Given the description of an element on the screen output the (x, y) to click on. 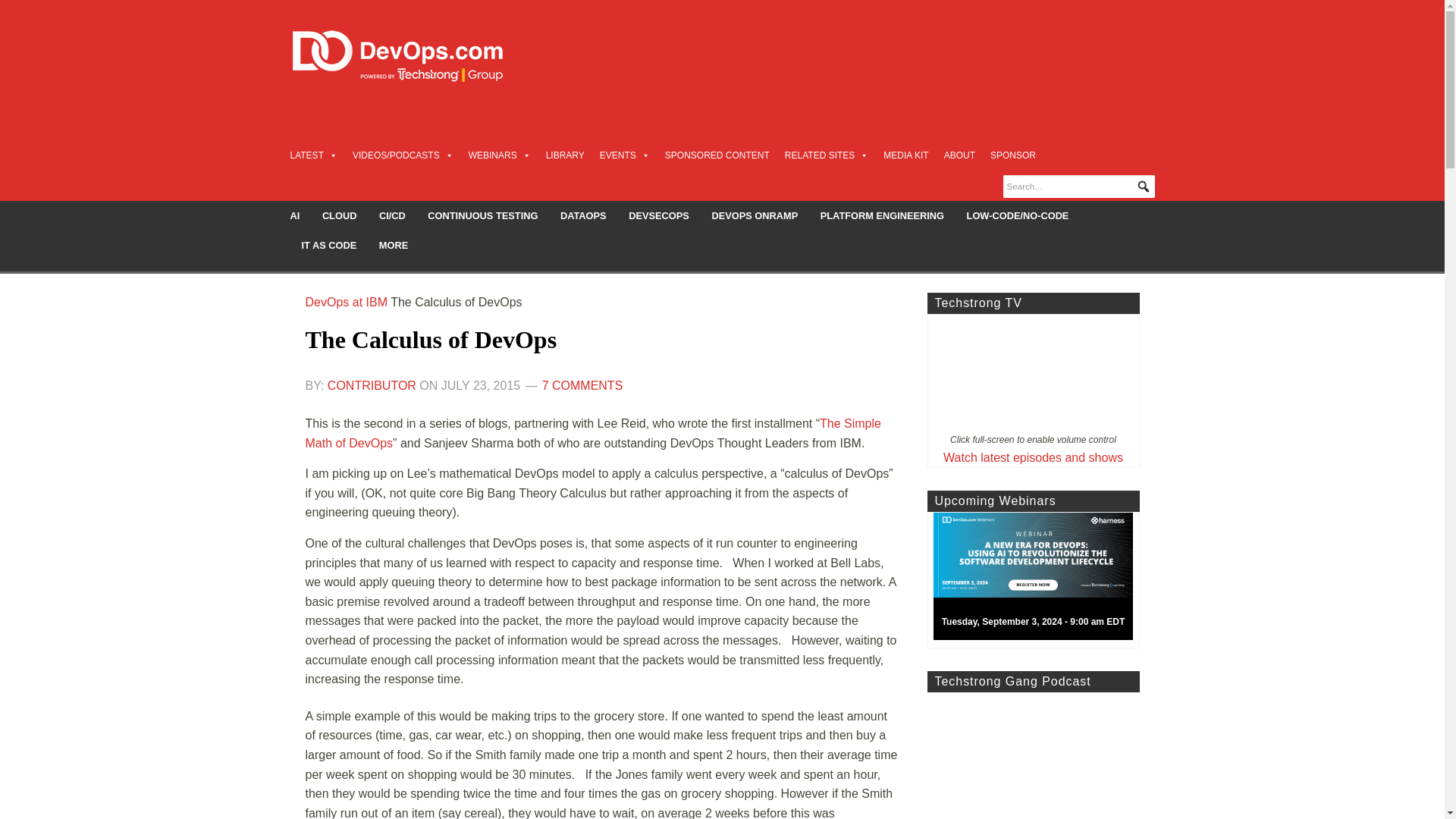
EVENTS (624, 155)
Tuesday, September 3, 2024 - 9:00 am EDT (1038, 579)
DEVOPS.COM (414, 56)
RELATED SITES (825, 155)
LIBRARY (565, 155)
SPONSORED CONTENT (717, 155)
WEBINARS (499, 155)
LATEST (312, 155)
Techstrong Gang (1032, 755)
